Given the description of an element on the screen output the (x, y) to click on. 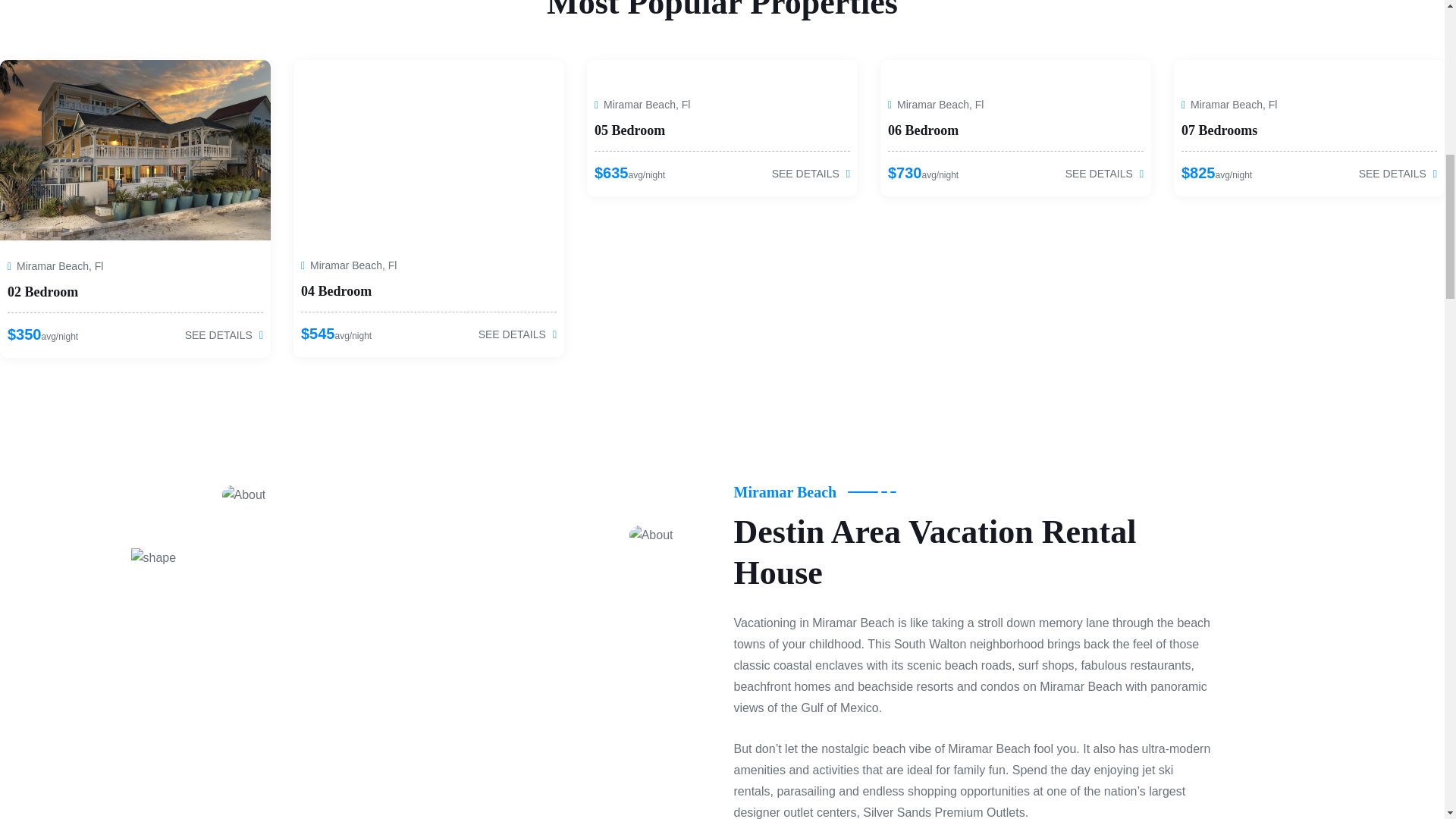
Miramar Beach, Fl (348, 265)
SEE DETAILS (223, 336)
02 Bedroom (42, 291)
Miramar Beach, Fl (55, 266)
